Given the description of an element on the screen output the (x, y) to click on. 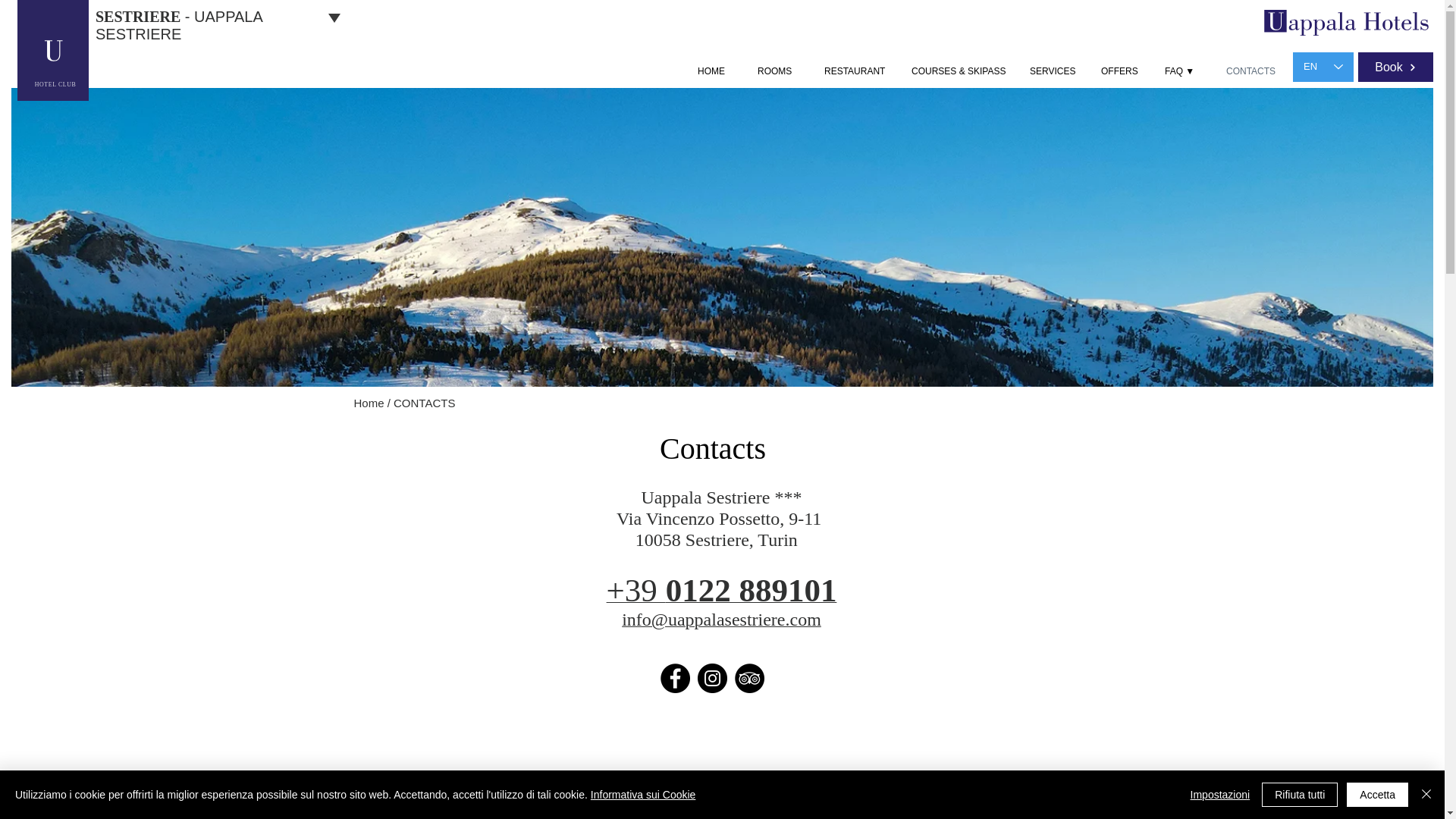
HOME (715, 71)
OFFERS (1121, 71)
Book (1395, 66)
ROOMS (778, 71)
CONTACTS (1254, 71)
RESTAURANT (855, 71)
SERVICES (1053, 71)
Home (368, 402)
